Given the description of an element on the screen output the (x, y) to click on. 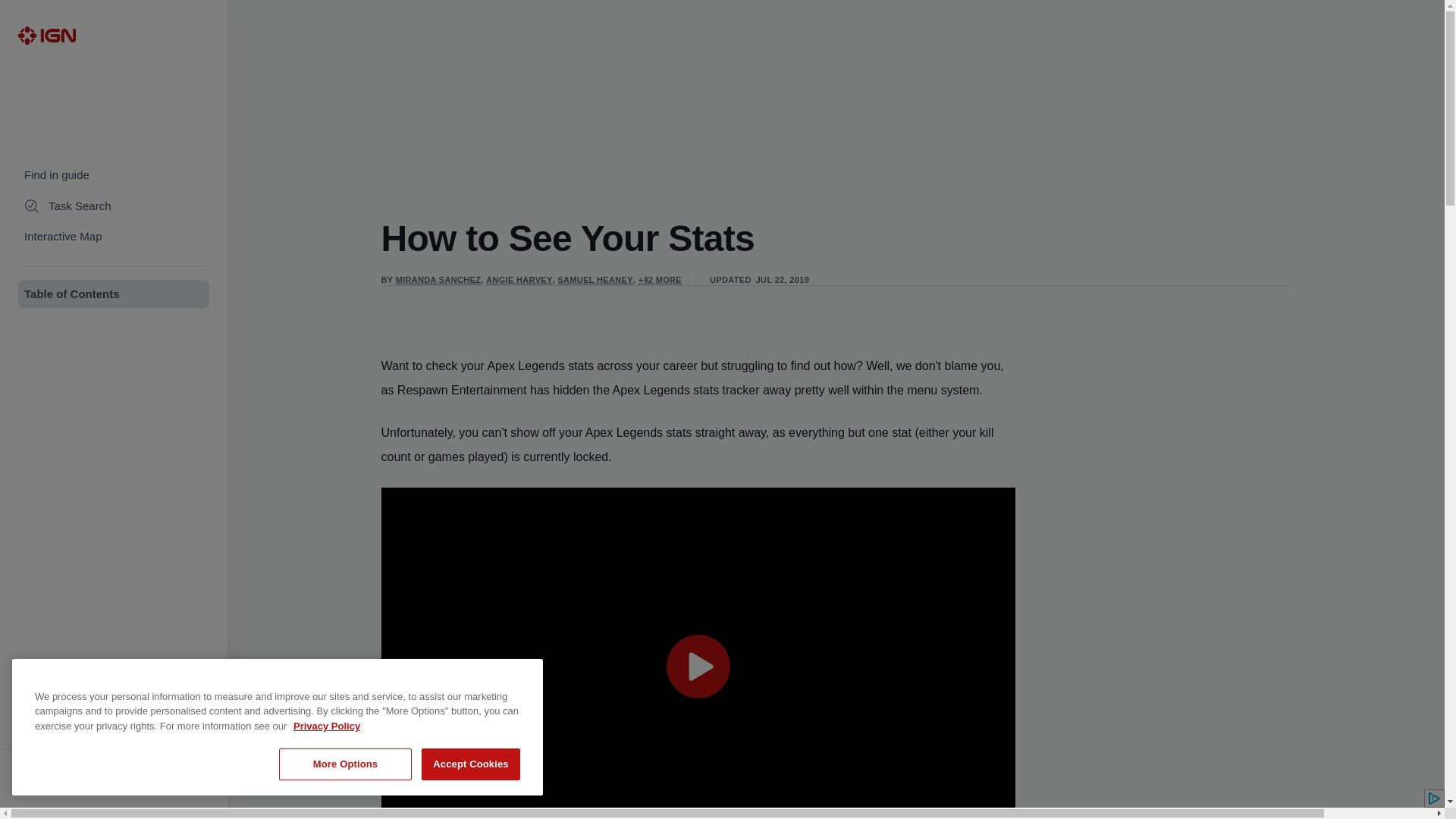
Interactive Map (113, 236)
IGN (46, 35)
Find in guide (113, 175)
Interactive Map (113, 236)
Find in guide (113, 175)
Table of Contents (113, 294)
Task Search (113, 206)
IGN Logo (46, 34)
Task Search (113, 206)
Table of Contents (113, 294)
IGN Logo (46, 35)
